Given the description of an element on the screen output the (x, y) to click on. 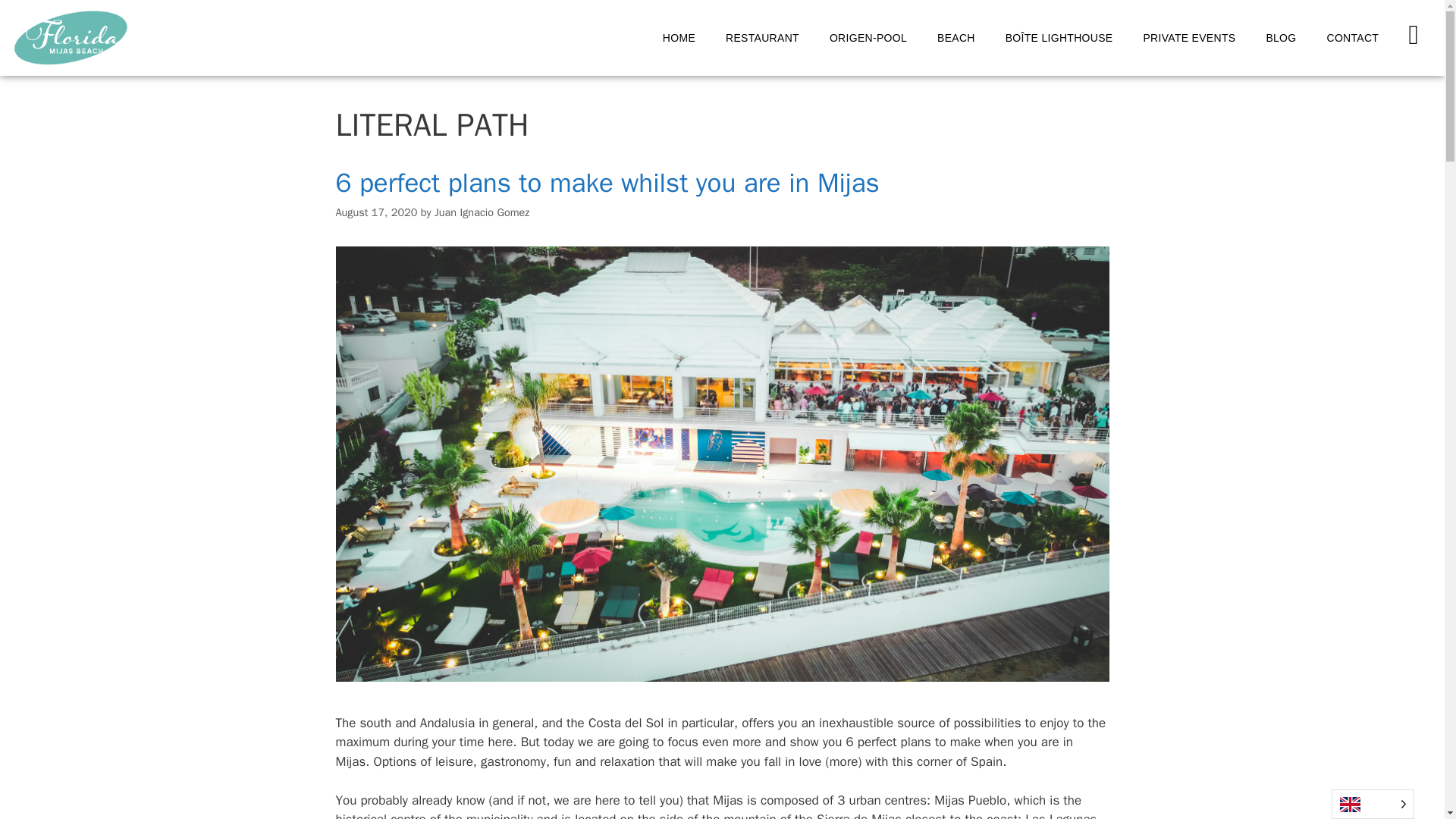
BEACH (955, 38)
RESTAURANT (761, 38)
6 perfect plans to make whilst you are in Mijas (606, 182)
CONTACT (1352, 38)
View all Juan Ignacio Gomez's posts (481, 212)
ORIGEN-POOL (867, 38)
PRIVATE EVENTS (1188, 38)
Juan Ignacio Gomez (481, 212)
